Given the description of an element on the screen output the (x, y) to click on. 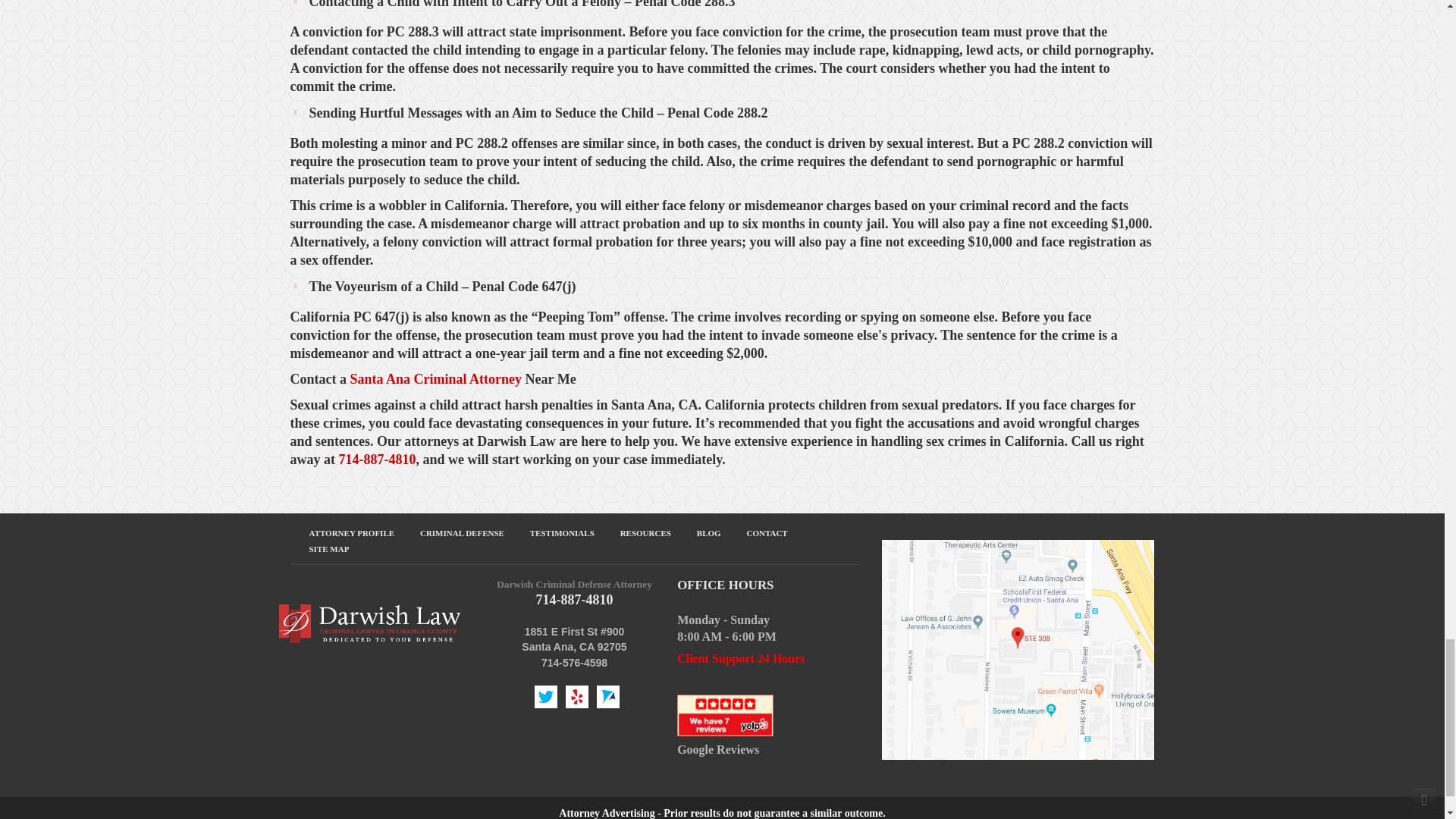
Map Darvish Law (1017, 648)
yelp (725, 713)
